Given the description of an element on the screen output the (x, y) to click on. 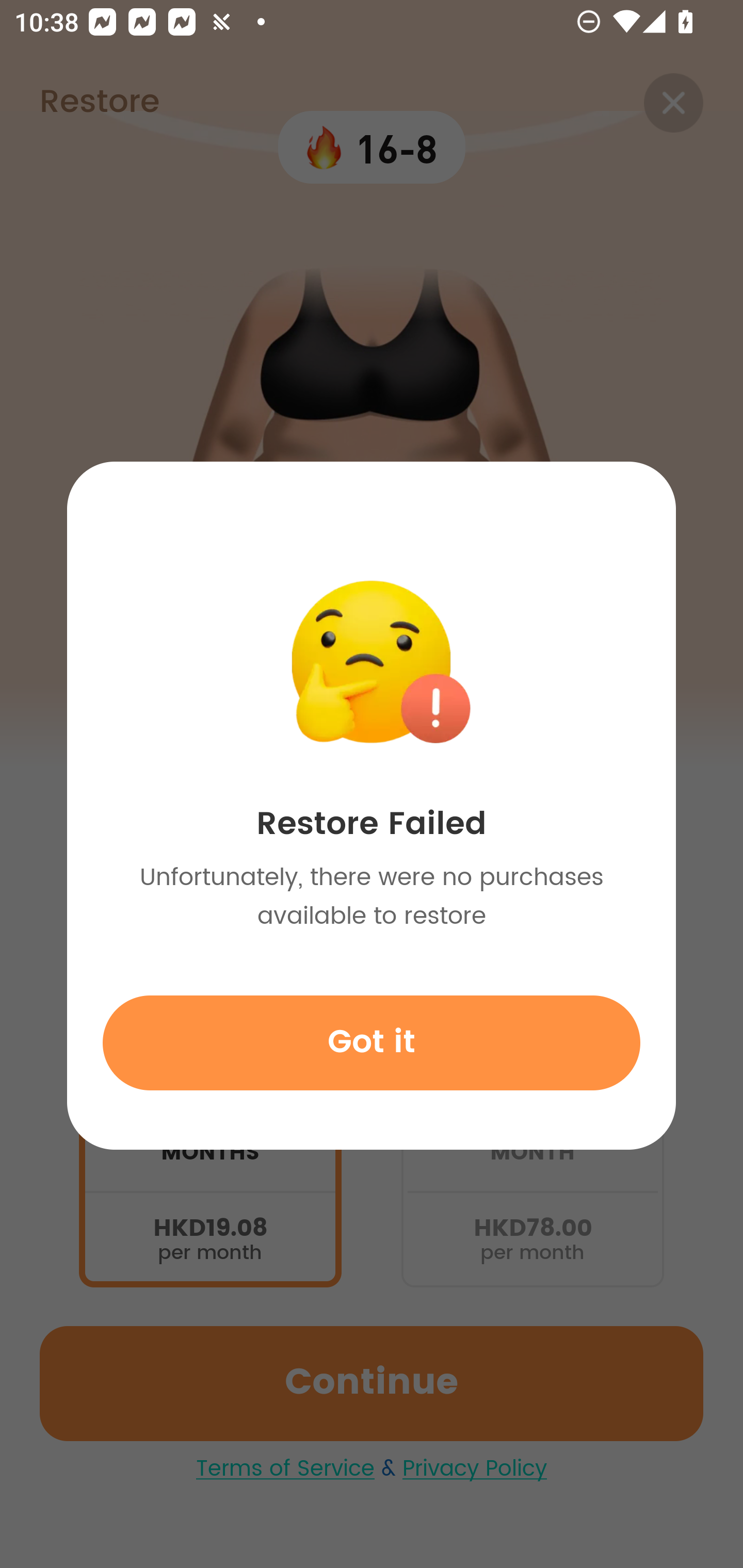
Got it (371, 1042)
